Given the description of an element on the screen output the (x, y) to click on. 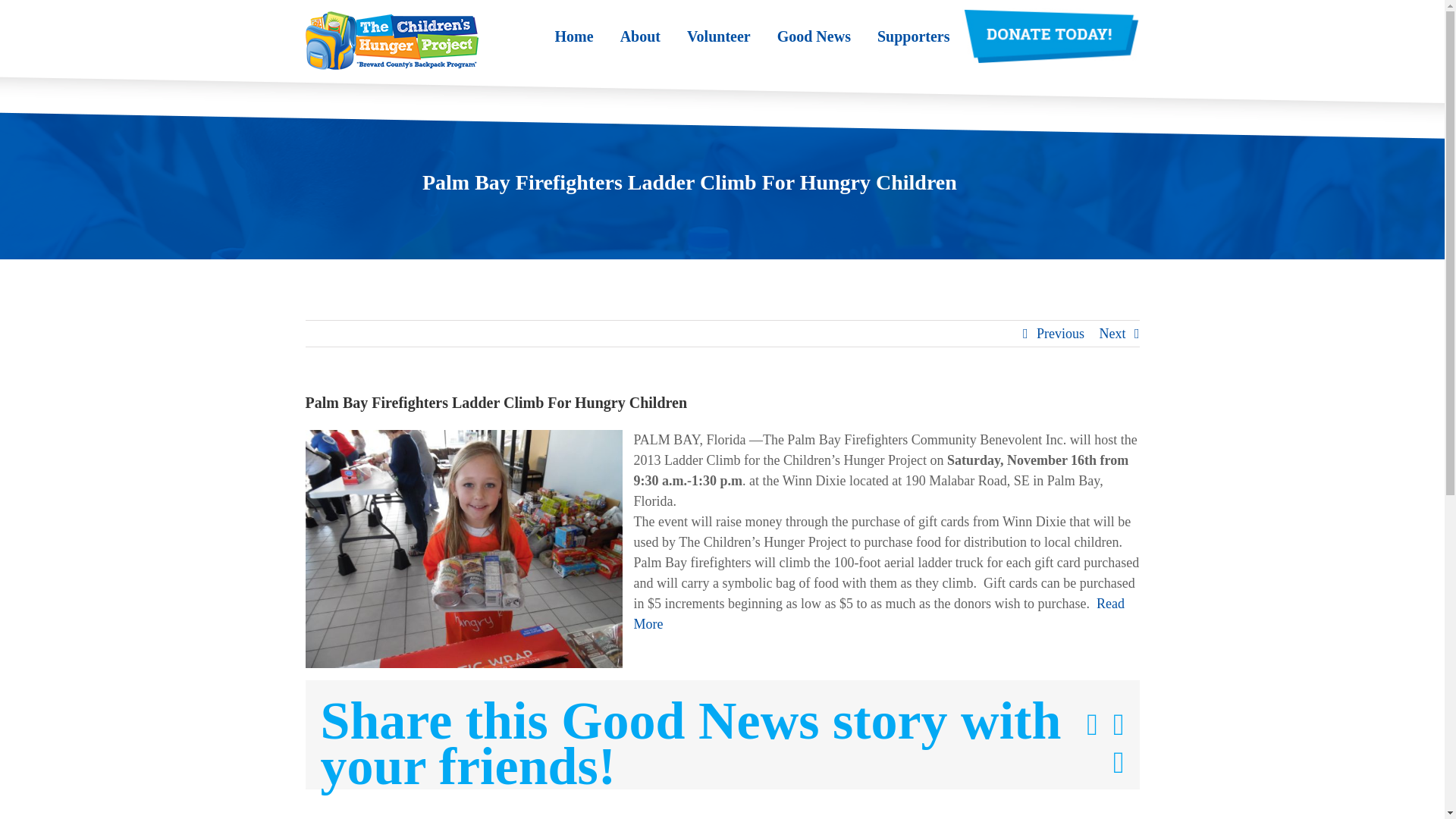
About (640, 35)
Volunteer (719, 35)
Home (574, 35)
Supporters (913, 35)
Good News (813, 35)
